Given the description of an element on the screen output the (x, y) to click on. 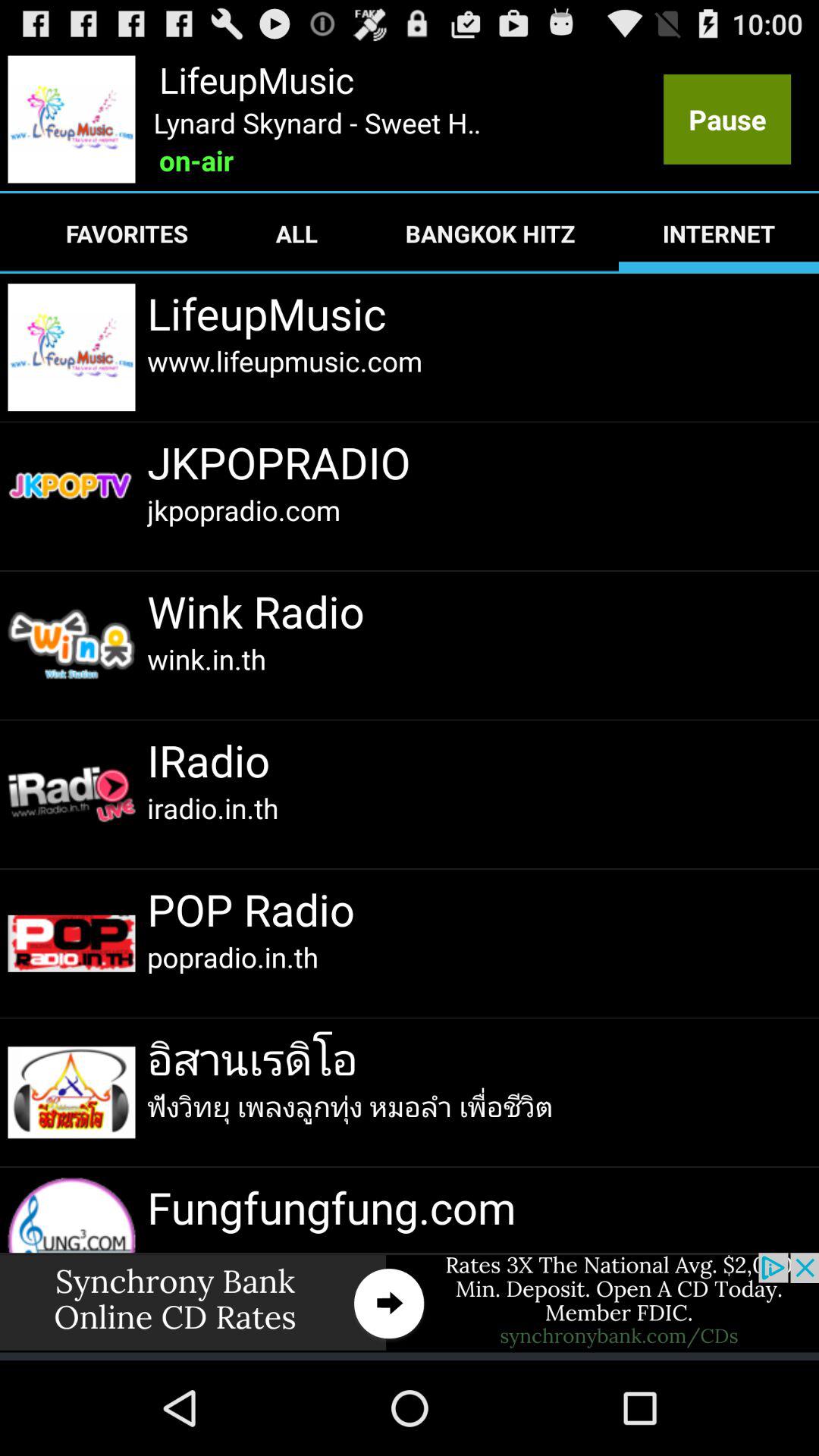
open advertisement (409, 1302)
